Given the description of an element on the screen output the (x, y) to click on. 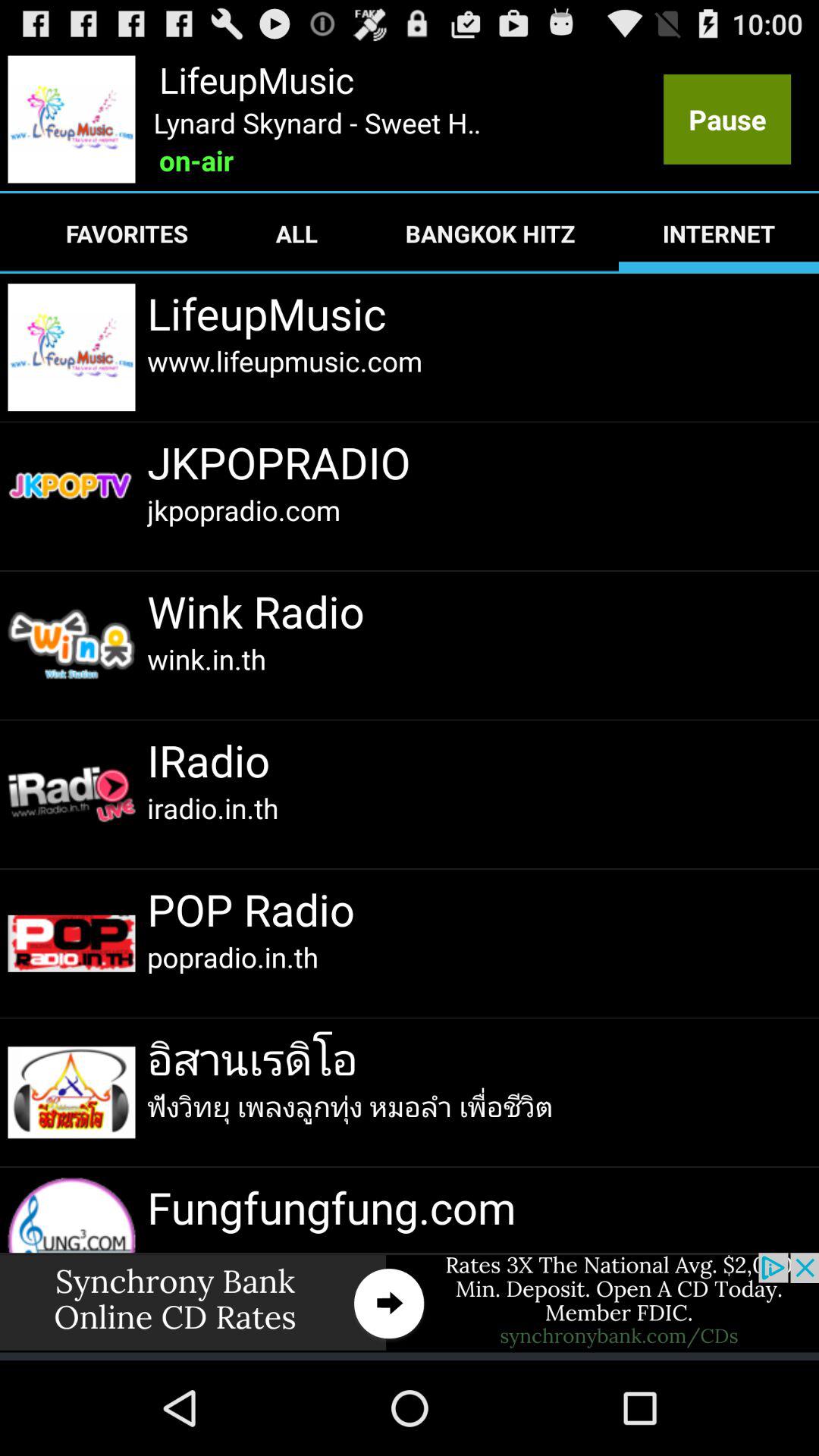
open advertisement (409, 1302)
